Given the description of an element on the screen output the (x, y) to click on. 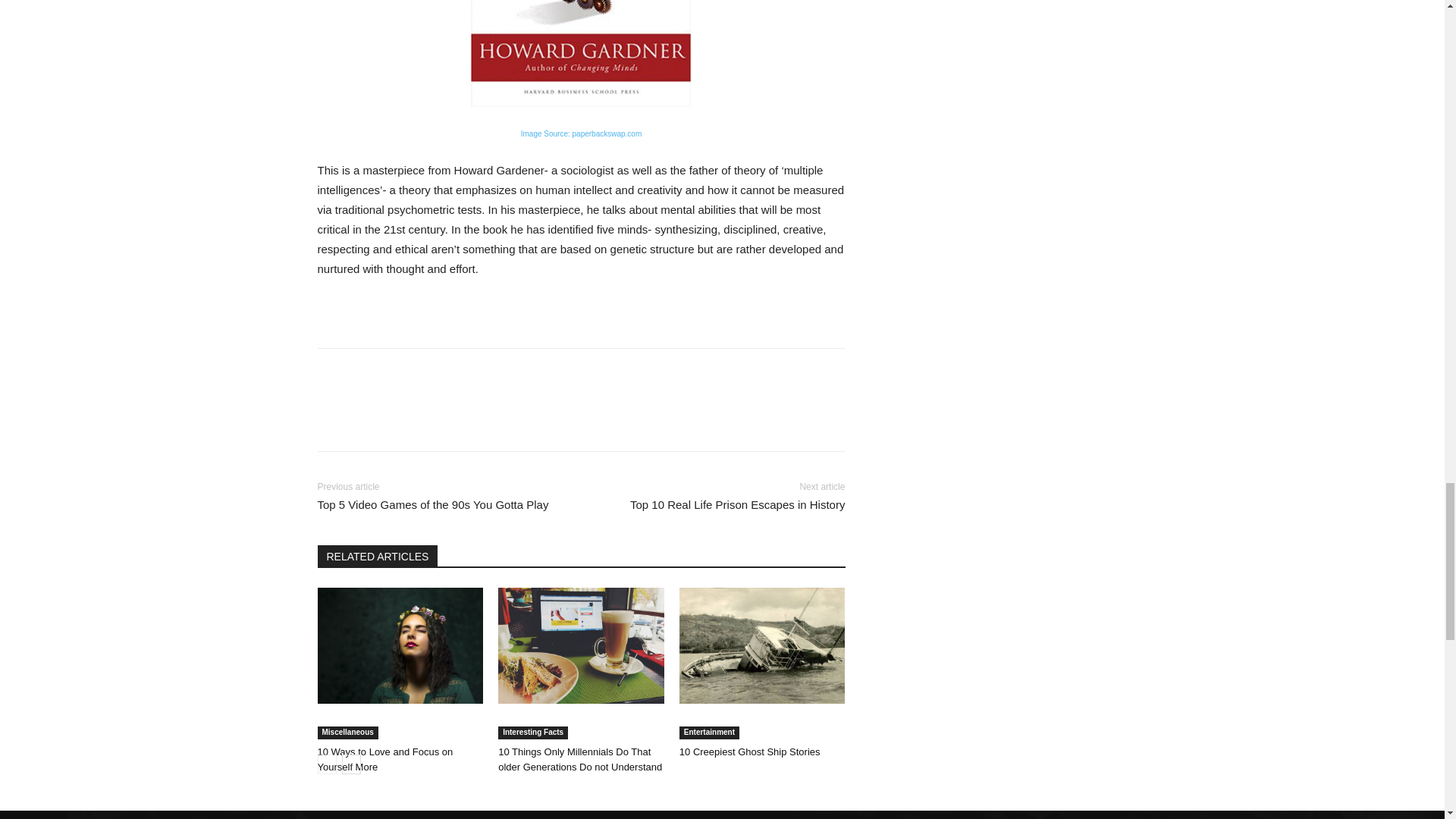
10 Ways to Love and Focus on Yourself More (384, 759)
10 Creepiest Ghost Ship Stories (762, 645)
10 Ways to Love and Focus on Yourself More (400, 645)
10 Creepiest Ghost Ship Stories (750, 751)
